Given the description of an element on the screen output the (x, y) to click on. 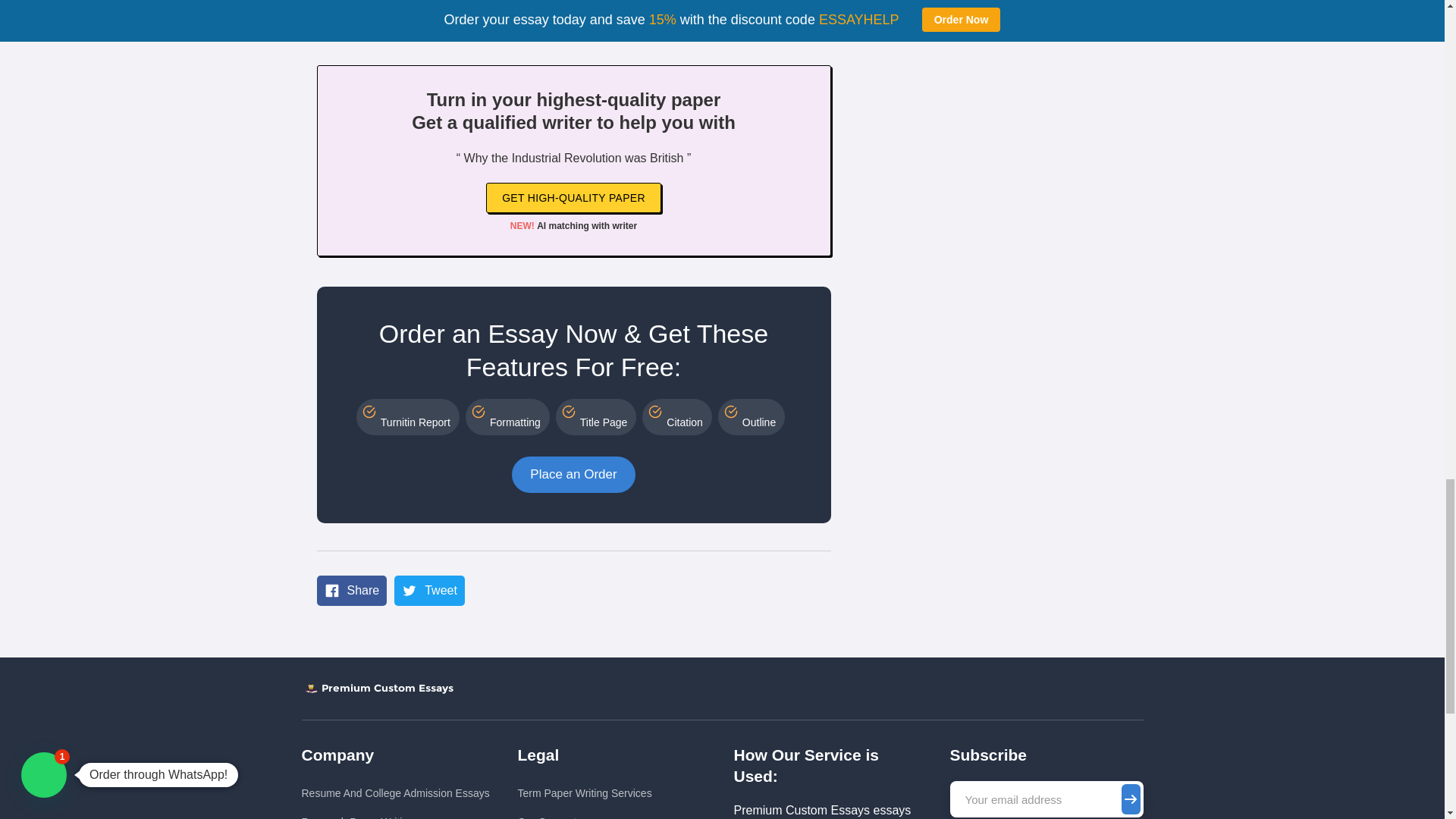
Our Guarantees (583, 814)
Tweet (429, 590)
Resume And College Admission Essays (395, 793)
Share (352, 590)
Term Paper Writing Services (583, 793)
Research Paper Writing (395, 814)
Place an Order (573, 474)
GET HIGH-QUALITY PAPER (573, 197)
